Given the description of an element on the screen output the (x, y) to click on. 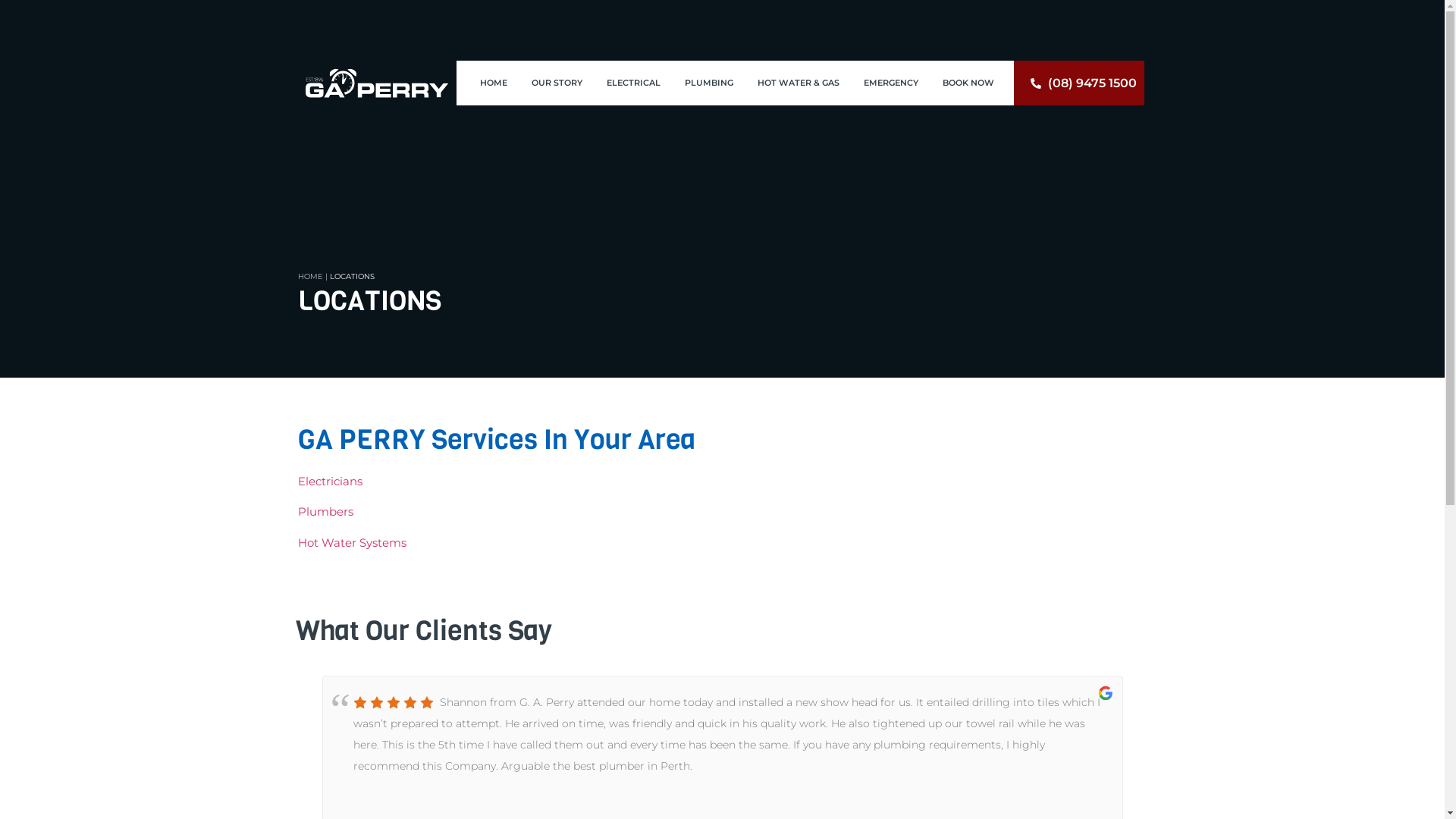
BOOK NOW Element type: text (968, 82)
HOME Element type: text (309, 276)
Electricians Element type: text (329, 480)
ELECTRICAL Element type: text (633, 82)
Hot Water Systems Element type: text (351, 542)
OUR STORY Element type: text (556, 82)
HOT WATER & GAS Element type: text (798, 82)
(08) 9475 1500 Element type: text (1078, 83)
PLUMBING Element type: text (708, 82)
HOME Element type: text (493, 82)
EMERGENCY Element type: text (890, 82)
Plumbers Element type: text (324, 511)
